Given the description of an element on the screen output the (x, y) to click on. 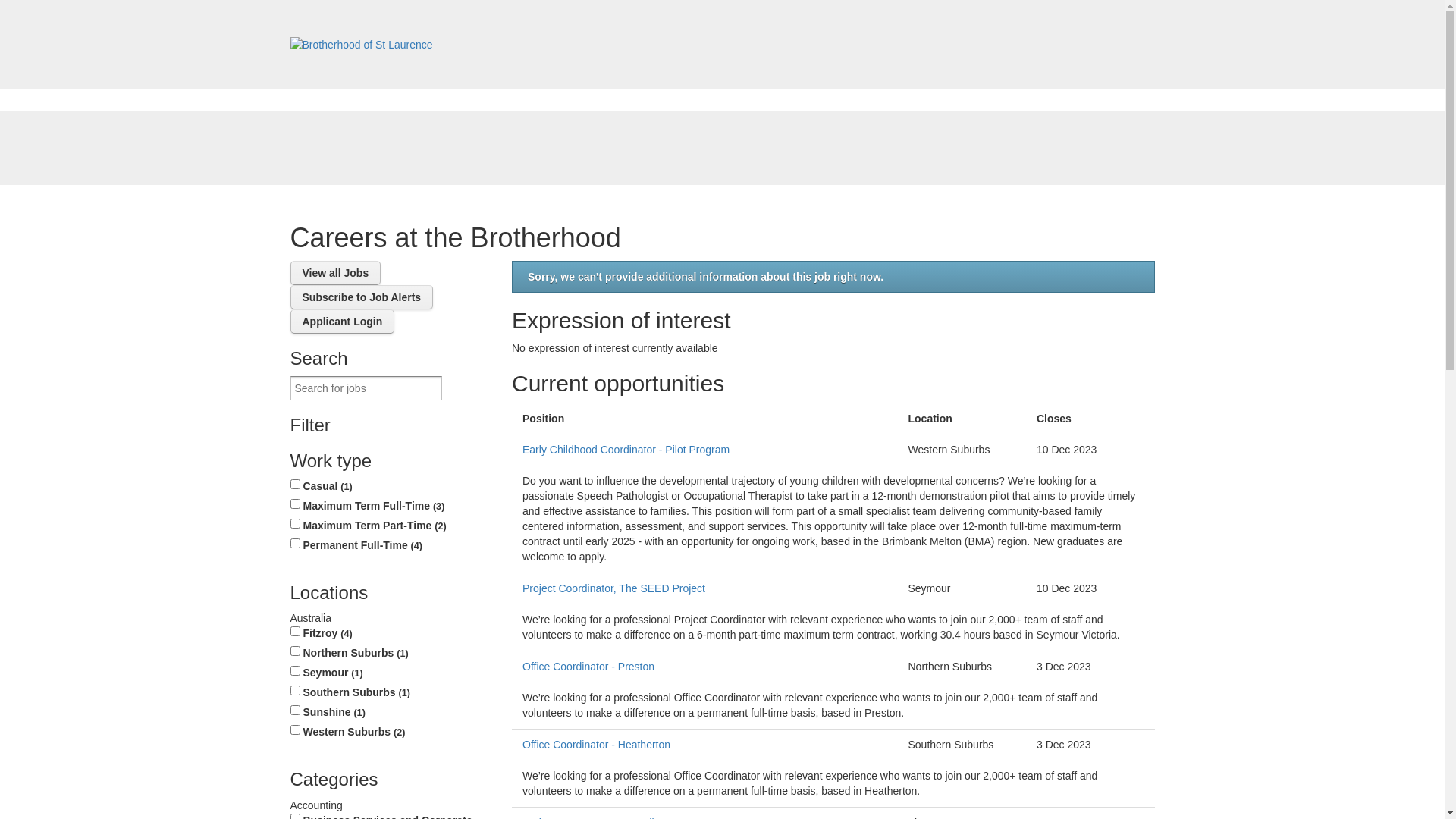
Subscribe to Job Alerts Element type: text (361, 297)
View all Jobs Element type: text (334, 272)
Applicant Login Element type: text (341, 321)
Project Coordinator, The SEED Project Element type: text (704, 588)
Early Childhood Coordinator - Pilot Program Element type: text (704, 449)
Office Coordinator - Preston Element type: text (704, 666)
Office Coordinator - Heatherton Element type: text (704, 744)
